Given the description of an element on the screen output the (x, y) to click on. 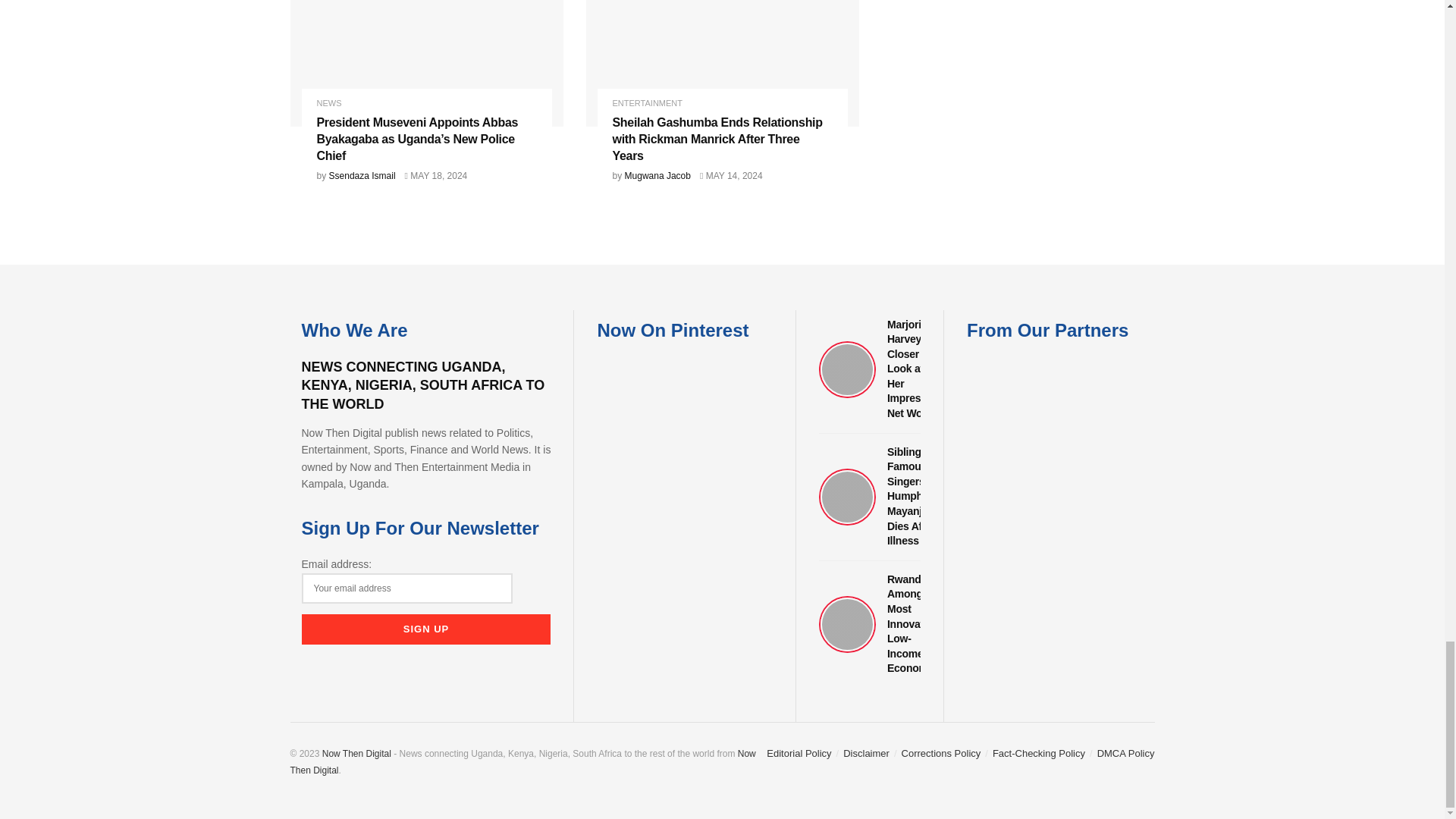
Sign up (426, 629)
Now Then Digital (356, 753)
Rwanda Is Among the Most Innovative Low-Income Economies (869, 624)
Marjorie Harvey: A Closer Look at Her Impressive Net Worth (869, 368)
Now Then Digital (522, 761)
